Given the description of an element on the screen output the (x, y) to click on. 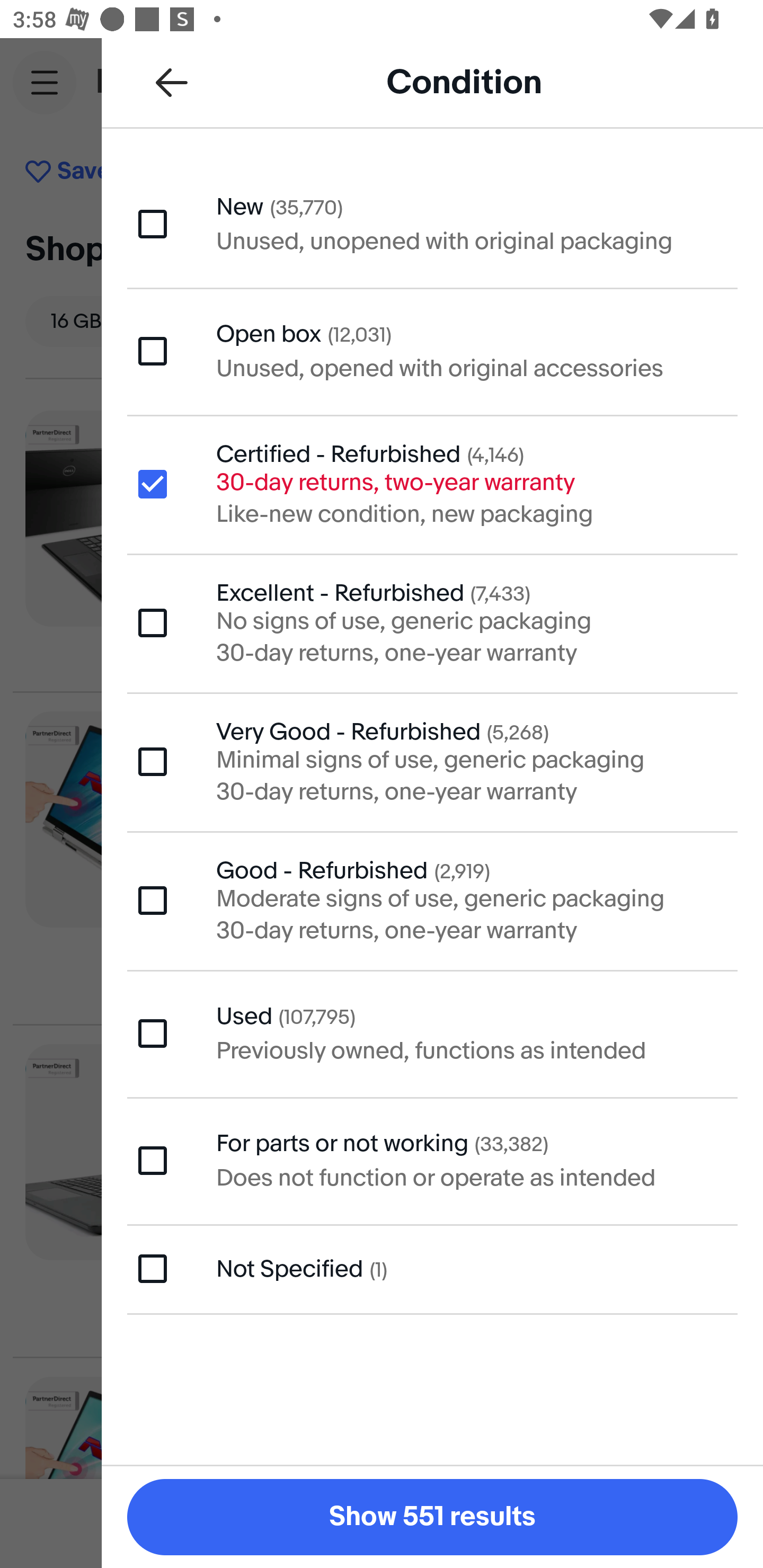
Back to all refinements (171, 81)
Not Specified (1) (432, 1268)
Show 551 results (432, 1516)
